Given the description of an element on the screen output the (x, y) to click on. 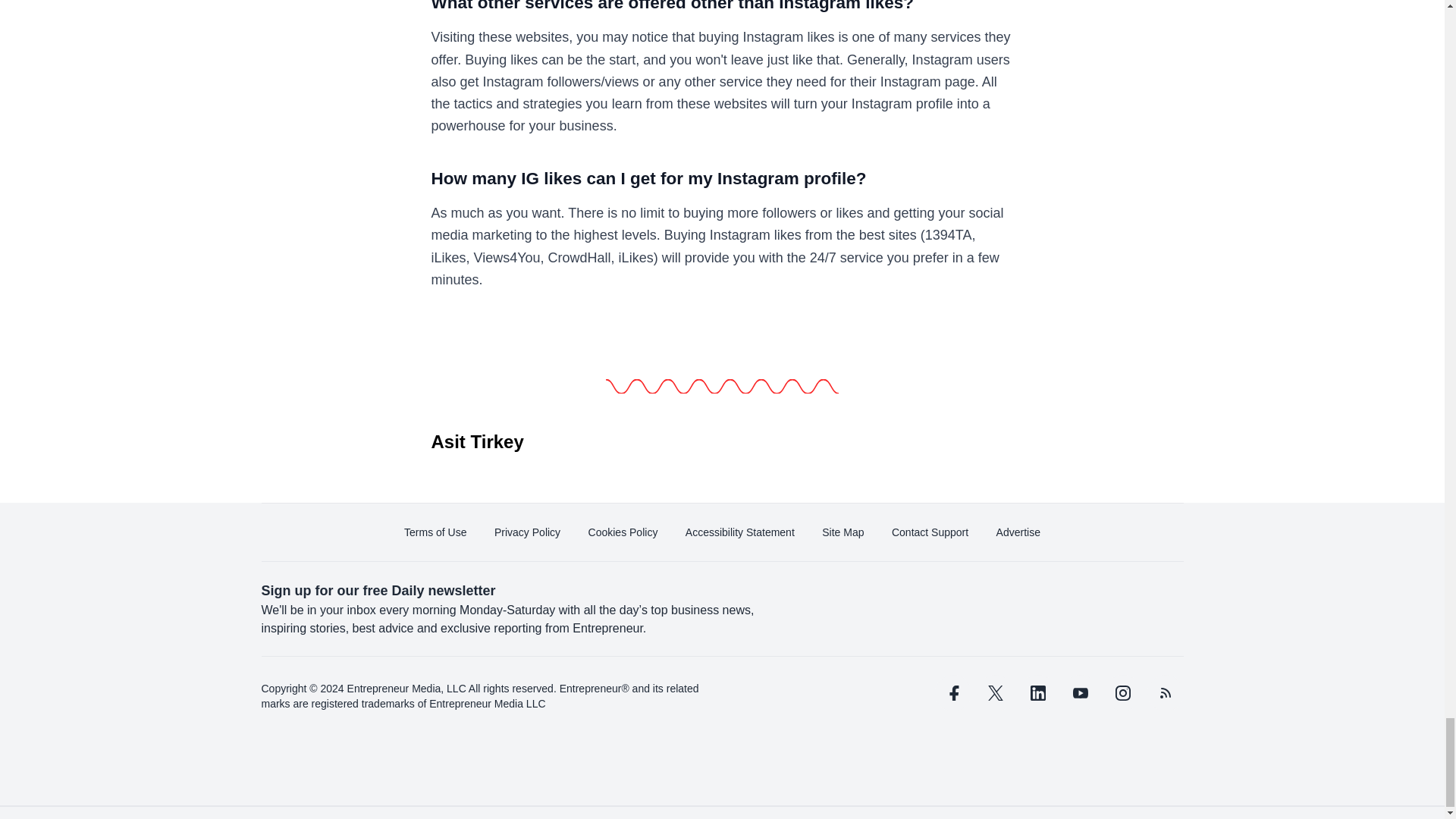
linkedin (1037, 692)
youtube (1079, 692)
instagram (1121, 692)
twitter (994, 692)
rss (1164, 692)
facebook (952, 692)
